Given the description of an element on the screen output the (x, y) to click on. 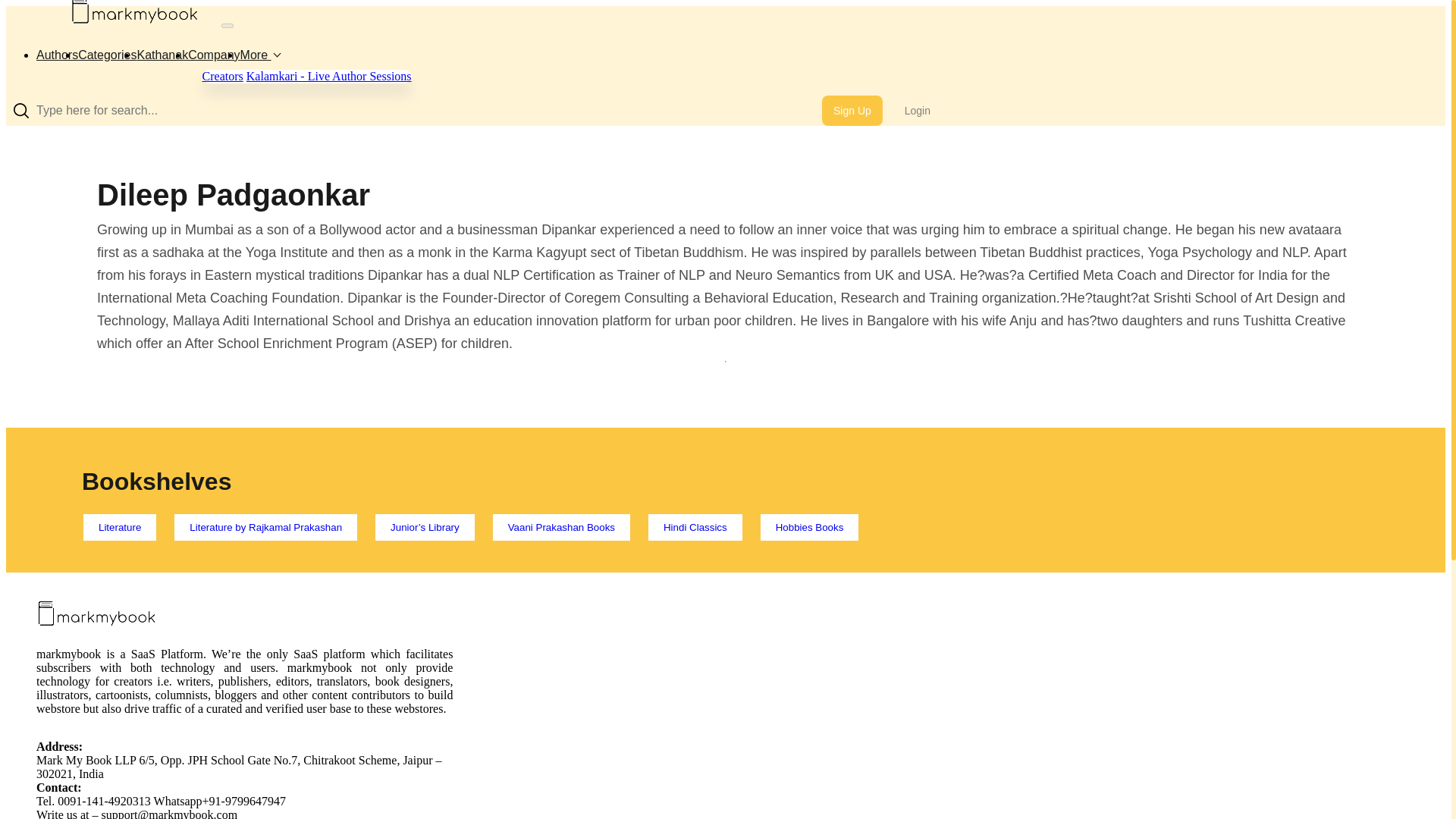
Hobbies Books (809, 527)
Authors (57, 54)
Vaani Prakashan Books (561, 527)
Kalamkari - Live Author Sessions (329, 75)
Literature (120, 527)
Creators (222, 75)
More (259, 54)
Vaani Prakashan Books (561, 527)
Kathanak (162, 54)
Literature by Rajkamal Prakashan (265, 527)
